Given the description of an element on the screen output the (x, y) to click on. 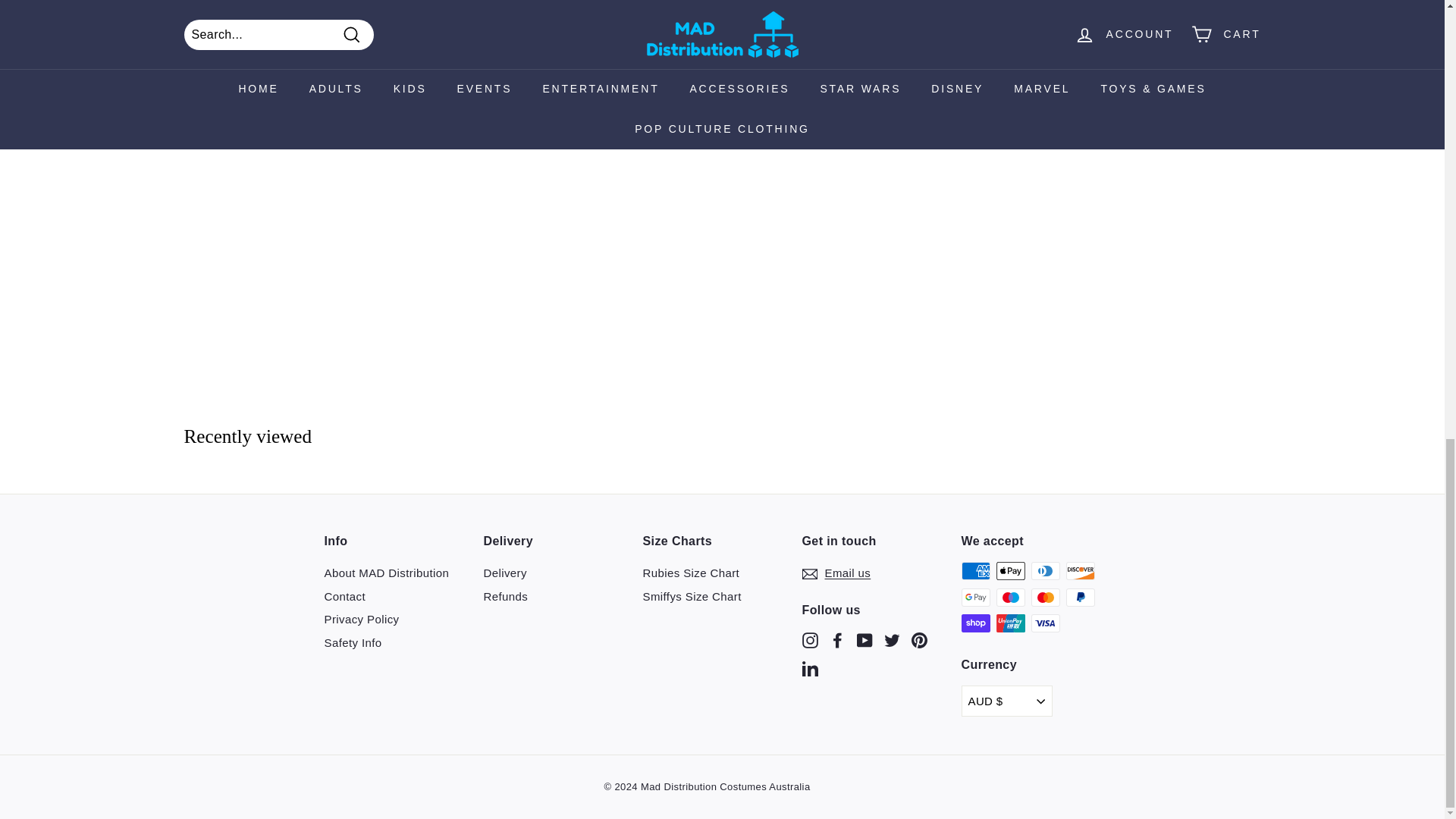
Mad Distribution Costumes Australia on Pinterest (919, 639)
Mad Distribution Costumes Australia on Facebook (837, 639)
Mad Distribution Costumes Australia on Instagram (810, 639)
Mad Distribution Costumes Australia on YouTube (864, 639)
Bristol Novelty (331, 117)
Mad Distribution Costumes Australia on Twitter (891, 639)
American Express (975, 570)
